Given the description of an element on the screen output the (x, y) to click on. 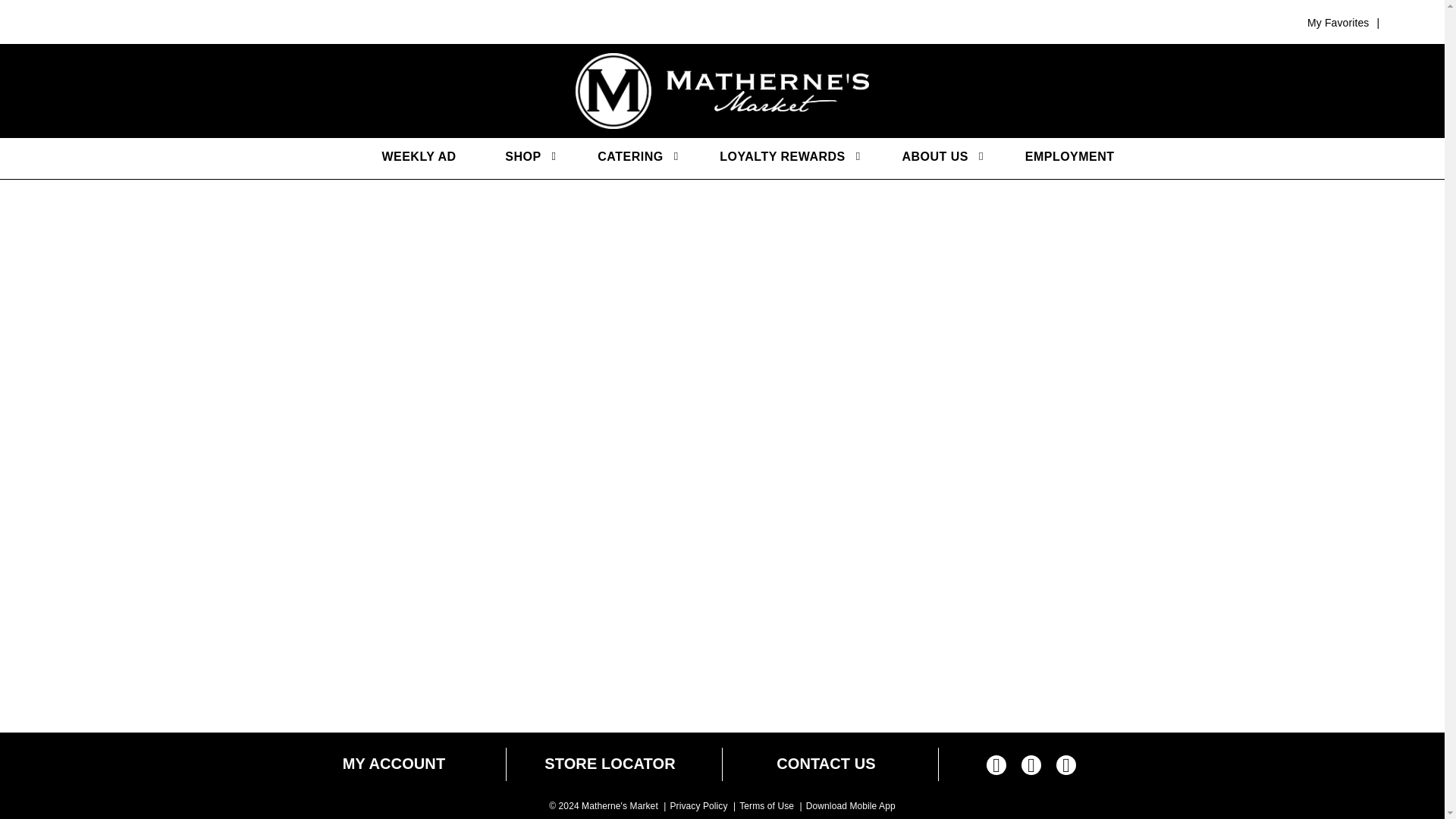
CATERING (626, 157)
Terms of Use (766, 805)
STORE LOCATOR (609, 764)
Download Mobile App (850, 805)
Privacy Policy (697, 805)
SHOP (518, 157)
LOYALTY REWARDS (777, 157)
EMPLOYMENT (1061, 157)
facebook (996, 766)
My Favorites (1337, 22)
twitter (1031, 766)
CONTACT US (826, 764)
ABOUT US (930, 157)
WEEKLY AD (410, 157)
MY ACCOUNT (393, 764)
